Given the description of an element on the screen output the (x, y) to click on. 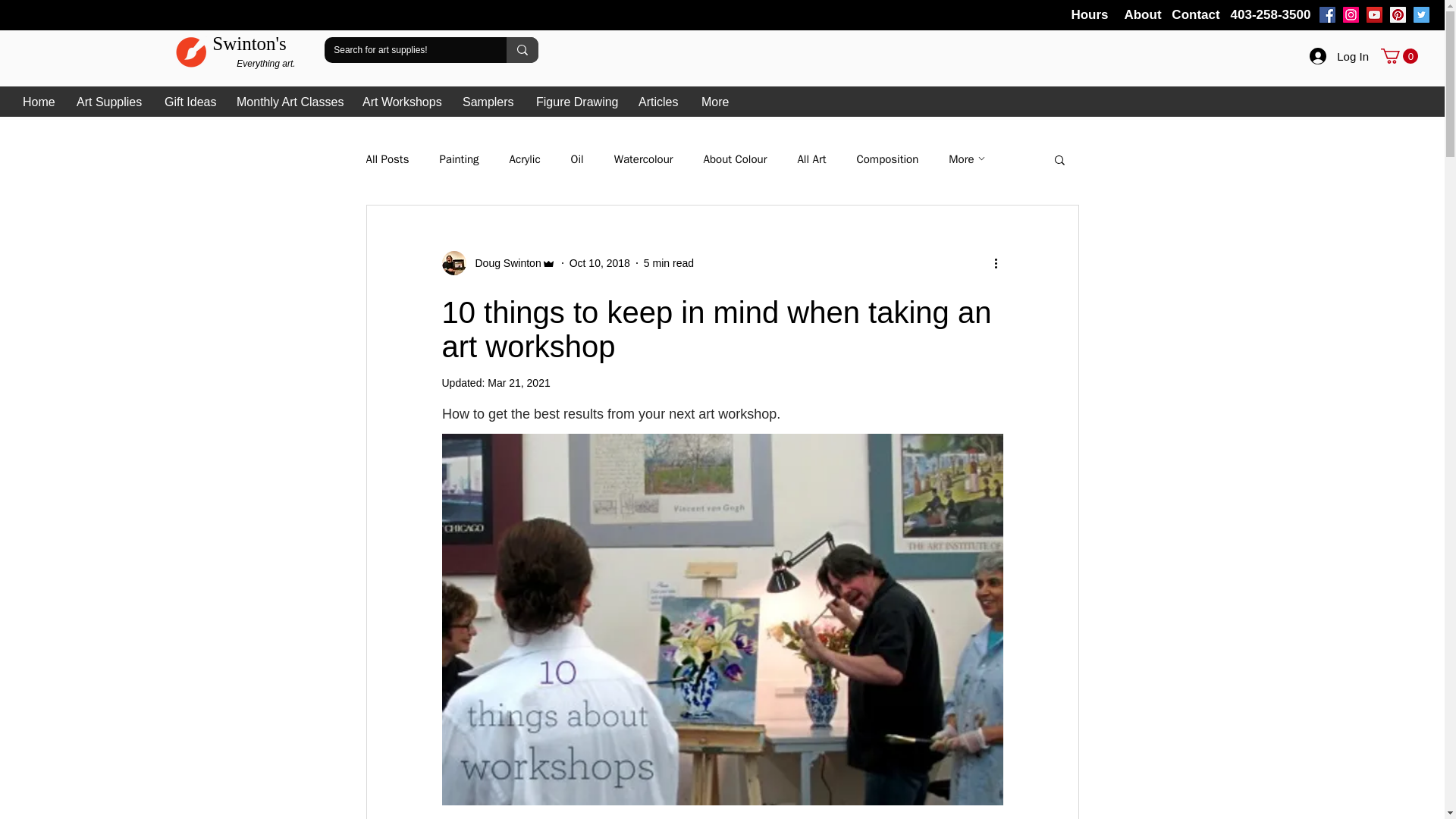
0 (1399, 55)
Everything art. (265, 63)
Oct 10, 2018 (599, 262)
Log In (1338, 55)
0 (1399, 55)
Doug Swinton (502, 262)
Samplers (487, 102)
Swinton's (249, 43)
Figure Drawing (575, 102)
Art Supplies (108, 102)
Gift Ideas (188, 102)
Art Workshops (400, 102)
Mar 21, 2021 (518, 382)
5 min read (668, 262)
Articles (658, 102)
